Given the description of an element on the screen output the (x, y) to click on. 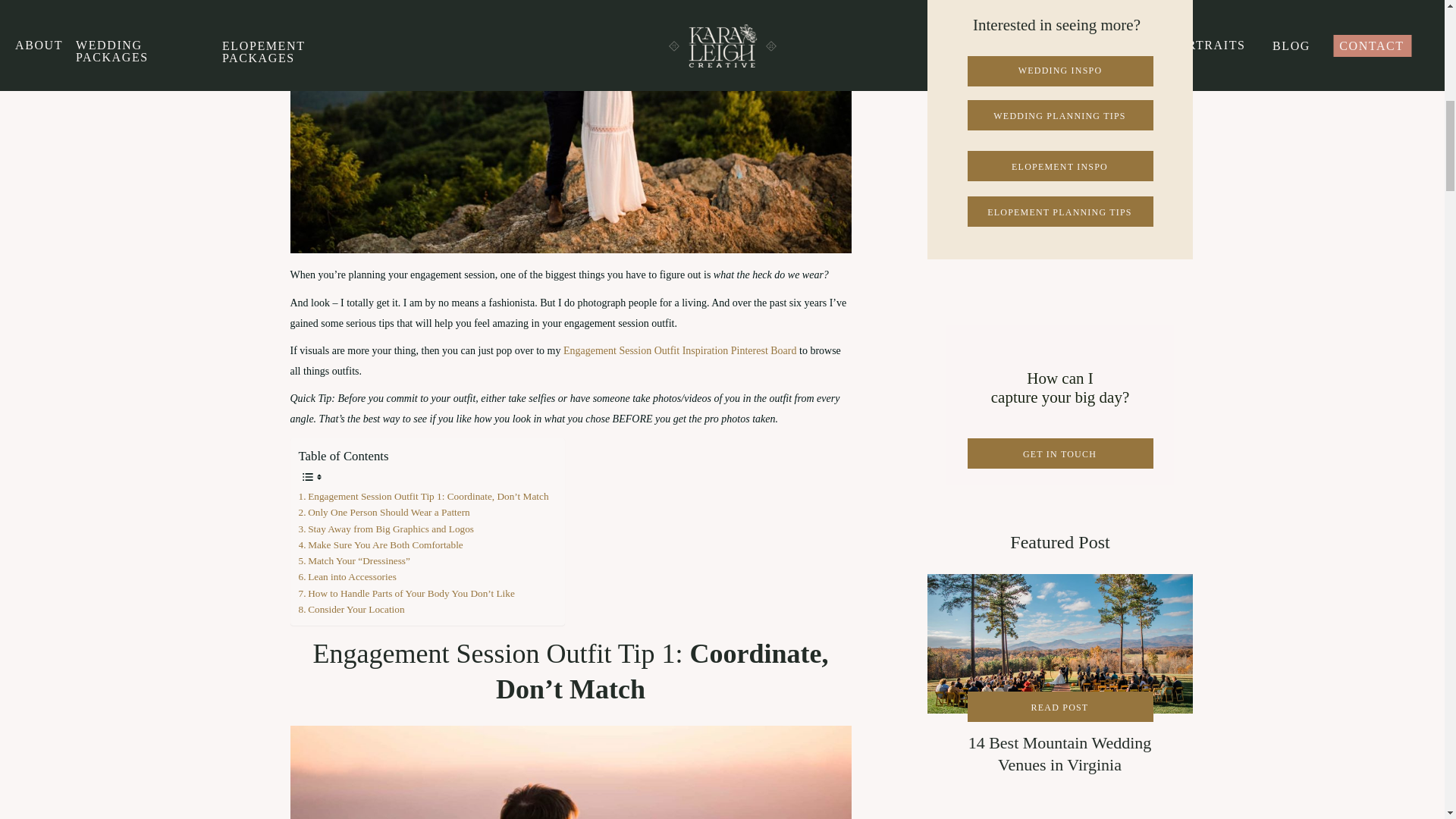
WEDDING PLANNING TIPS (1059, 115)
GET IN TOUCH (1059, 453)
Only One Person Should Wear a Pattern (384, 512)
Make Sure You Are Both Comfortable  (381, 544)
14 Best Mountain Wedding Venues in Virginia (1059, 707)
Stay Away from Big Graphics and Logos (386, 528)
Stay Away from Big Graphics and Logos (386, 528)
Consider Your Location  (352, 609)
Lean into Accessories  (348, 576)
WEDDING INSPO (1059, 70)
READ POST (1059, 707)
Engagement Session Outfit Inspiration Pinterest Board (678, 350)
Only One Person Should Wear a Pattern (384, 512)
ELOPEMENT INSPO (1059, 166)
